Given the description of an element on the screen output the (x, y) to click on. 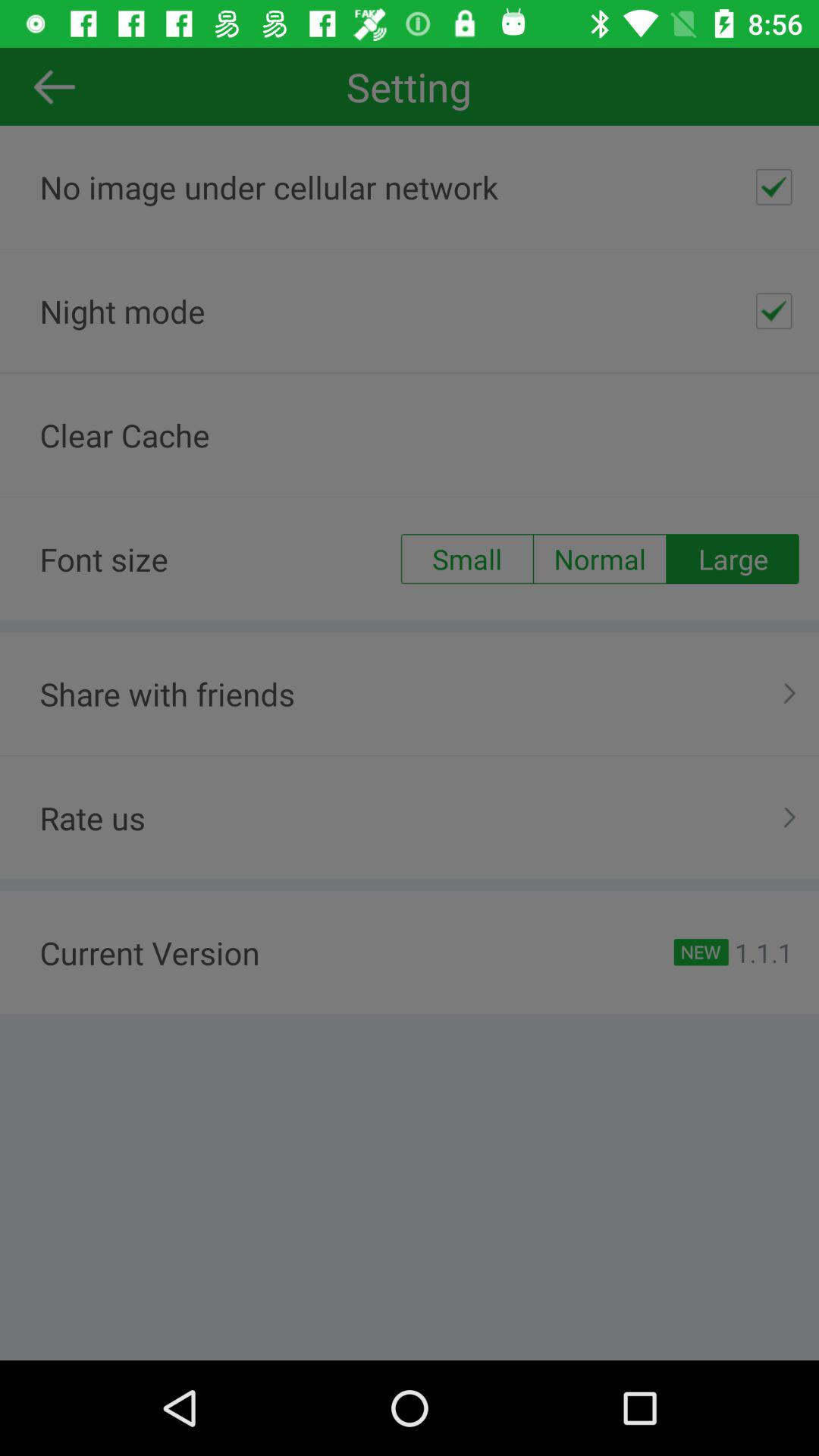
turn on item above night mode icon (774, 187)
